Given the description of an element on the screen output the (x, y) to click on. 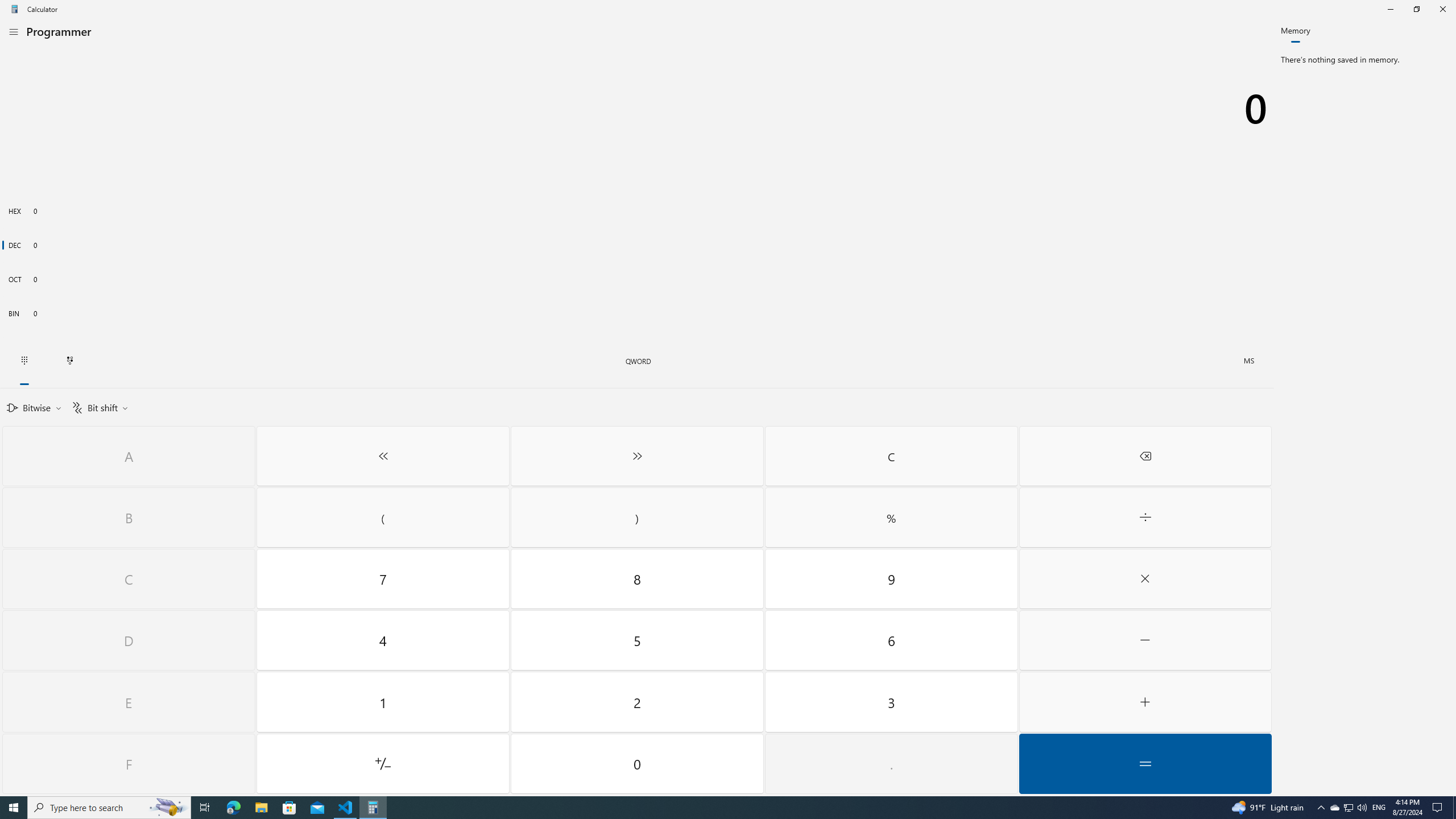
Right shift (637, 455)
Octal 0  (636, 278)
Bit toggling keypad (69, 360)
Notification Chevron (1320, 807)
Seven (382, 578)
Type here to search (108, 807)
Start (13, 807)
Tray Input Indicator - English (United States) (1378, 807)
Left parenthesis (382, 517)
Bitshift (99, 407)
D (128, 640)
Binary 0  (636, 312)
Bitshift (99, 407)
Decimal separator (890, 763)
Calculator - 1 running window (373, 807)
